Given the description of an element on the screen output the (x, y) to click on. 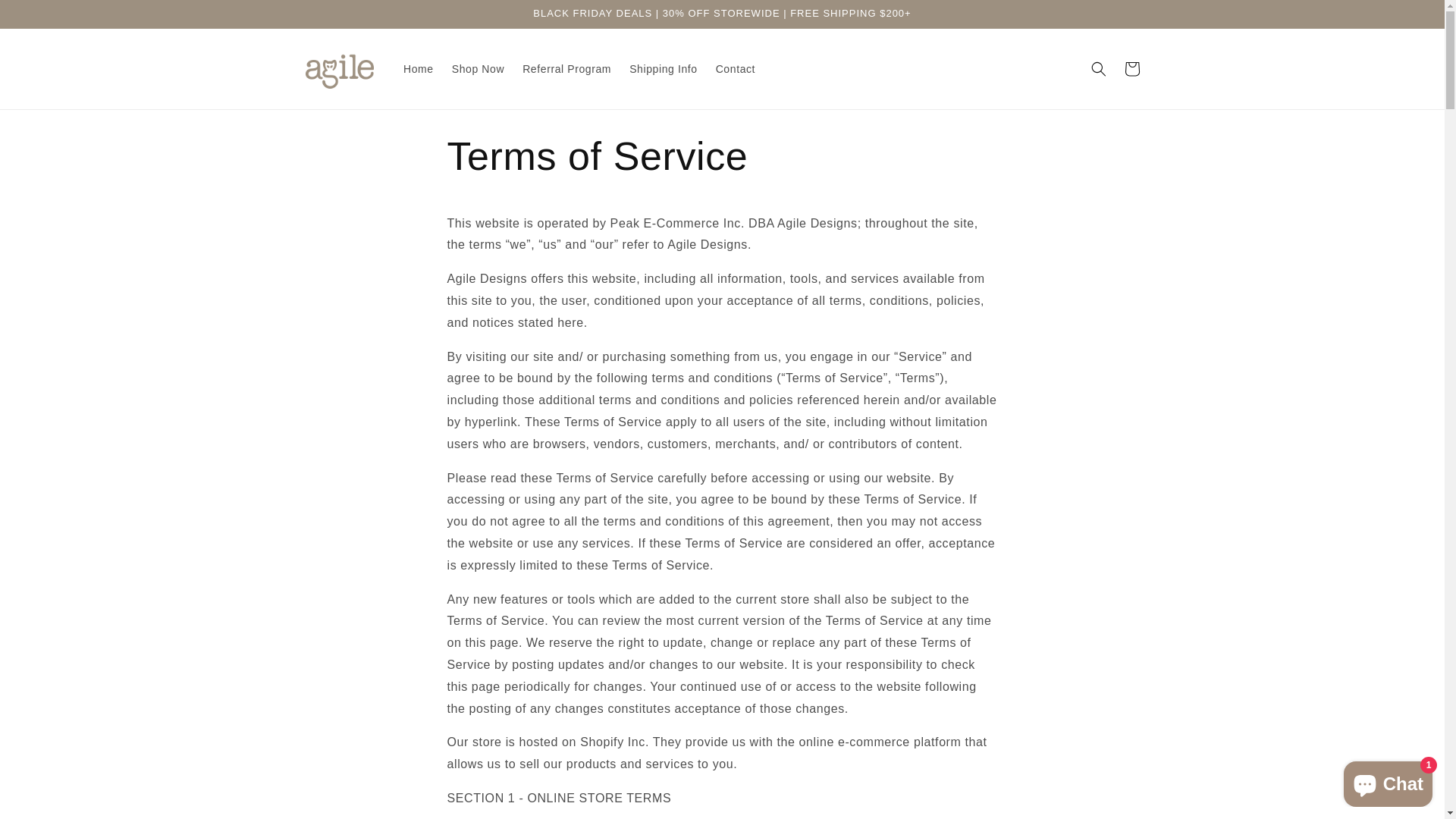
Cart Element type: text (1131, 68)
Referral Program Element type: text (566, 68)
Contact Element type: text (735, 68)
Shop Now Element type: text (477, 68)
Shipping Info Element type: text (663, 68)
Home Element type: text (418, 68)
Shopify online store chat Element type: hover (1388, 780)
